Given the description of an element on the screen output the (x, y) to click on. 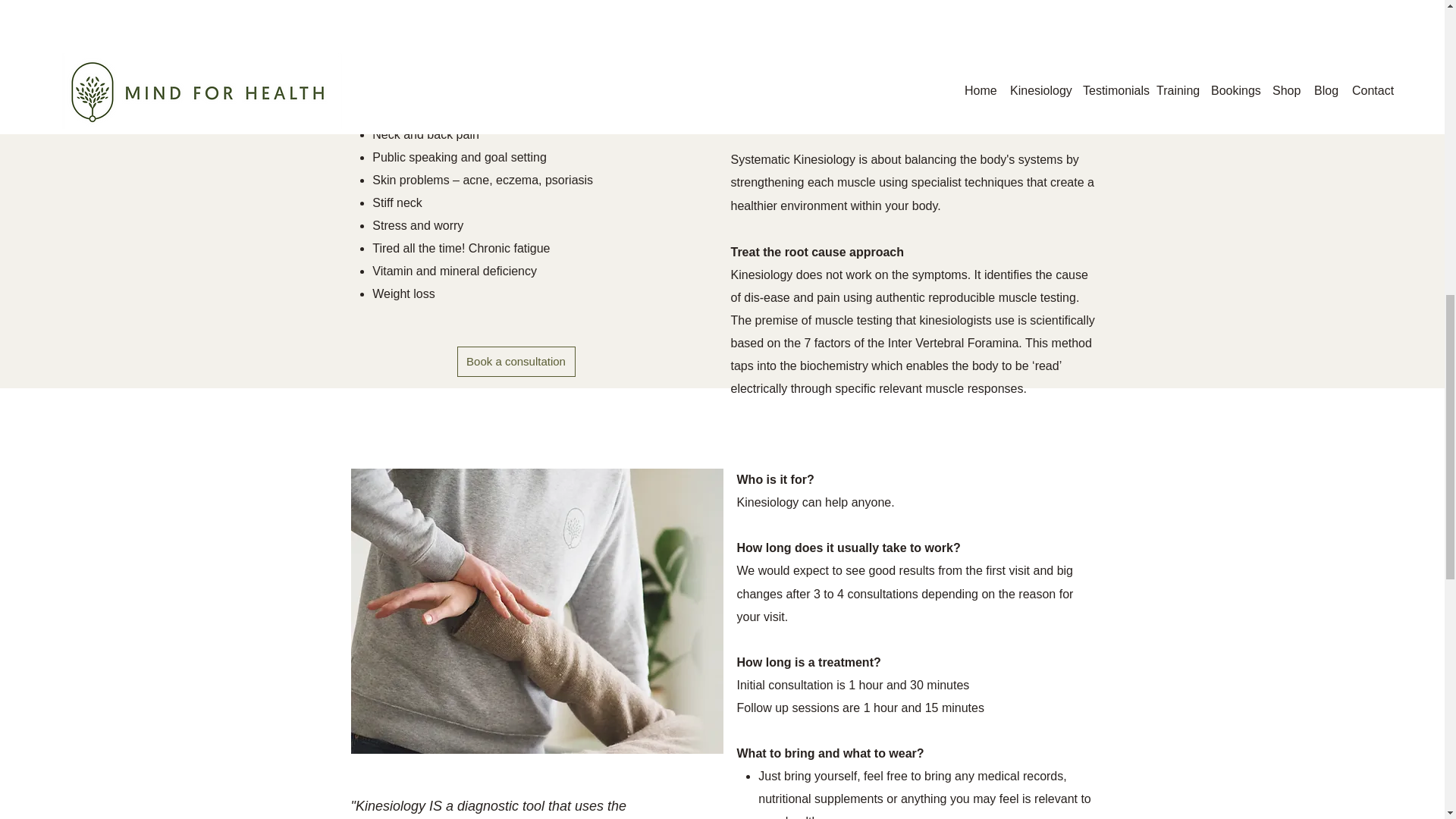
Book a consultation (516, 361)
